Given the description of an element on the screen output the (x, y) to click on. 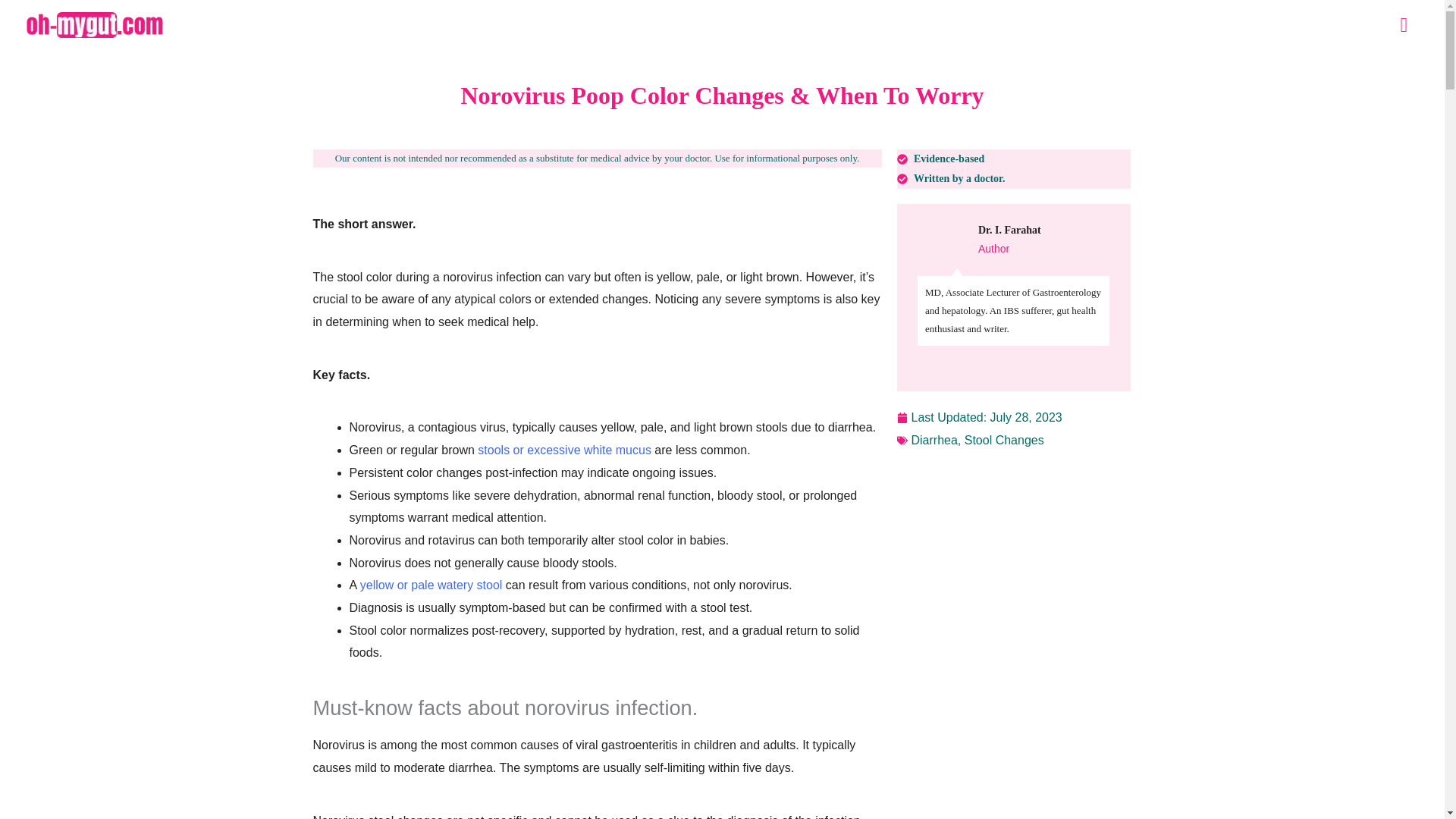
Diarrhea (934, 440)
Stool Changes (1003, 440)
Last Updated: July 28, 2023 (978, 417)
yellow or pale watery stool (430, 584)
stools or excessive white mucus (563, 449)
